Given the description of an element on the screen output the (x, y) to click on. 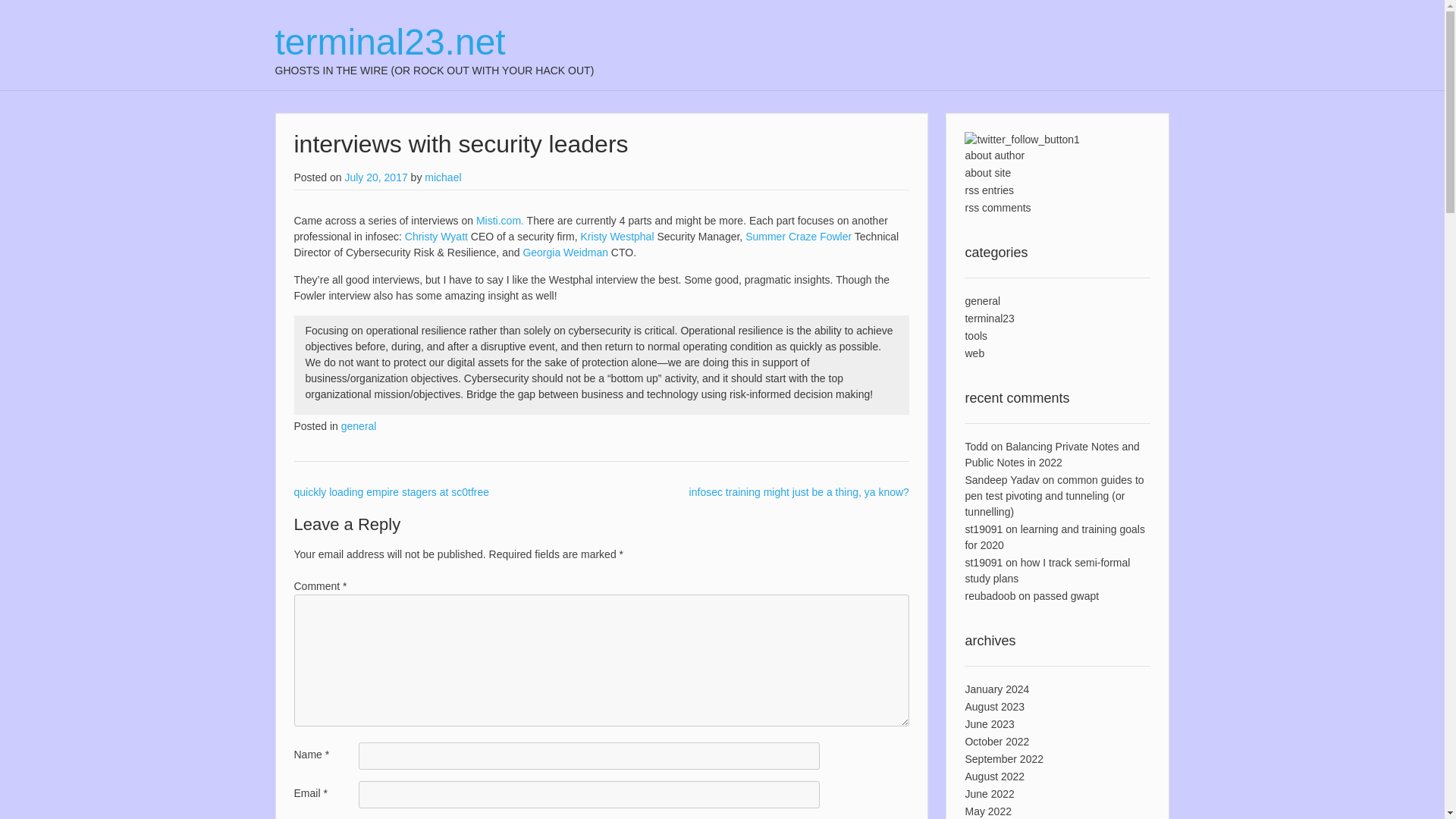
rss entries (988, 190)
August 2022 (994, 776)
how I track semi-formal study plans (1046, 570)
general (981, 300)
terminal23.net (434, 42)
rss comments (996, 207)
Sandeep Yadav (1001, 480)
michael (443, 177)
September 2022 (1003, 758)
terminal23.net (434, 42)
